Given the description of an element on the screen output the (x, y) to click on. 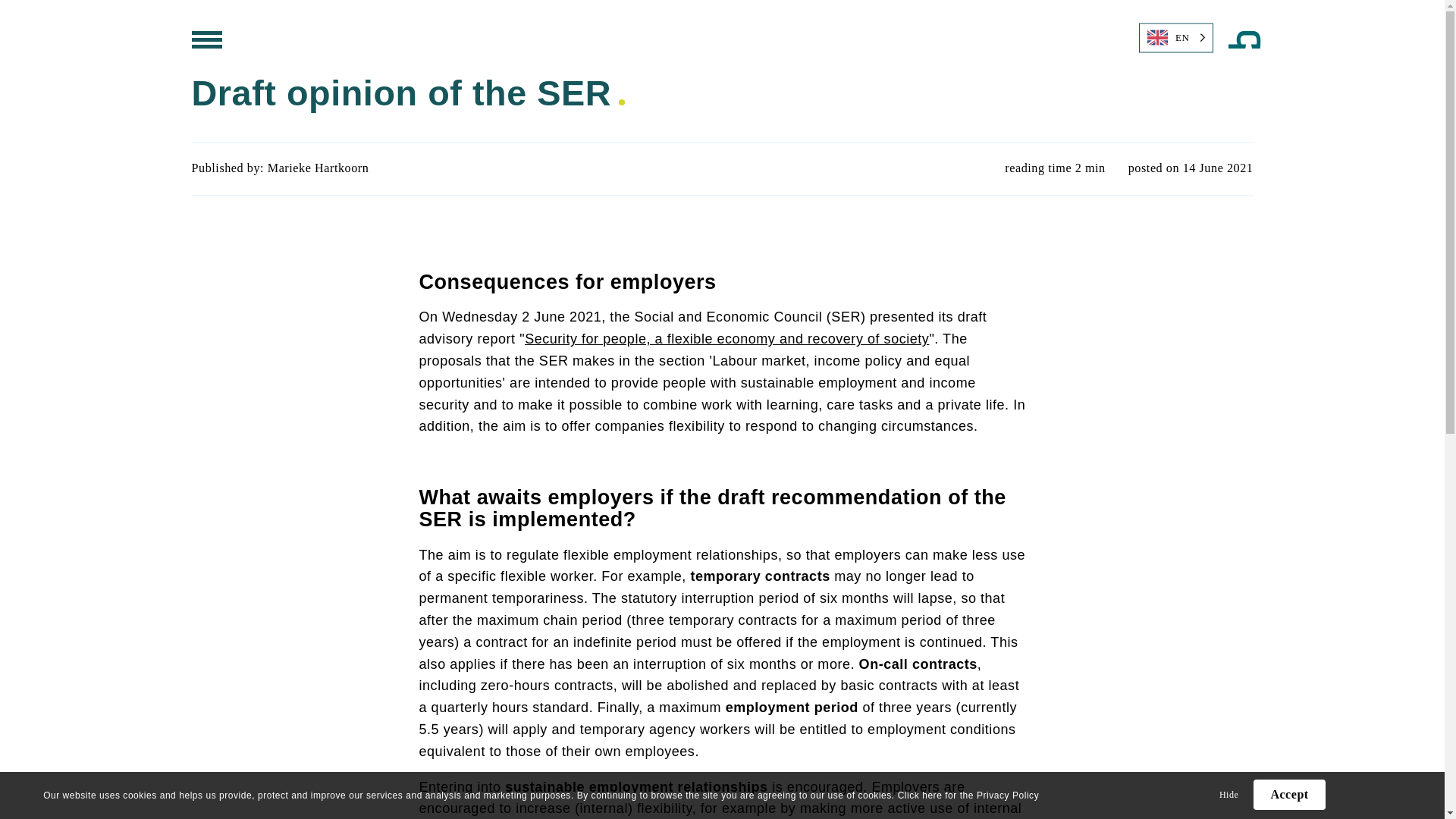
Click here (920, 795)
Accept the use of cookies on this website. (1288, 794)
Accept (1288, 794)
